Given the description of an element on the screen output the (x, y) to click on. 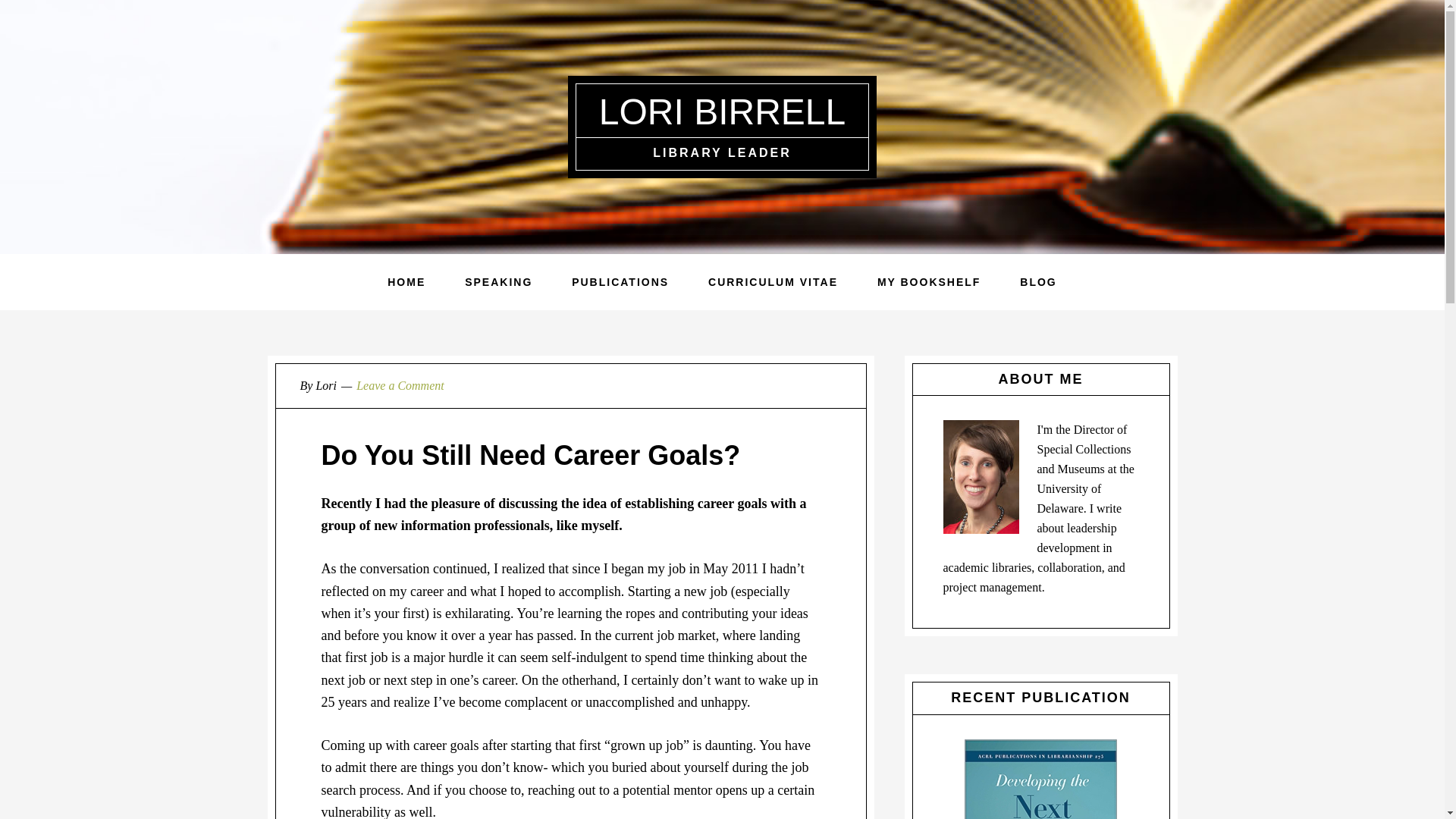
CURRICULUM VITAE (773, 281)
LORI BIRRELL (721, 111)
PUBLICATIONS (620, 281)
SPEAKING (498, 281)
MY BOOKSHELF (928, 281)
HOME (406, 281)
Leave a Comment (400, 385)
BLOG (1037, 281)
